Given the description of an element on the screen output the (x, y) to click on. 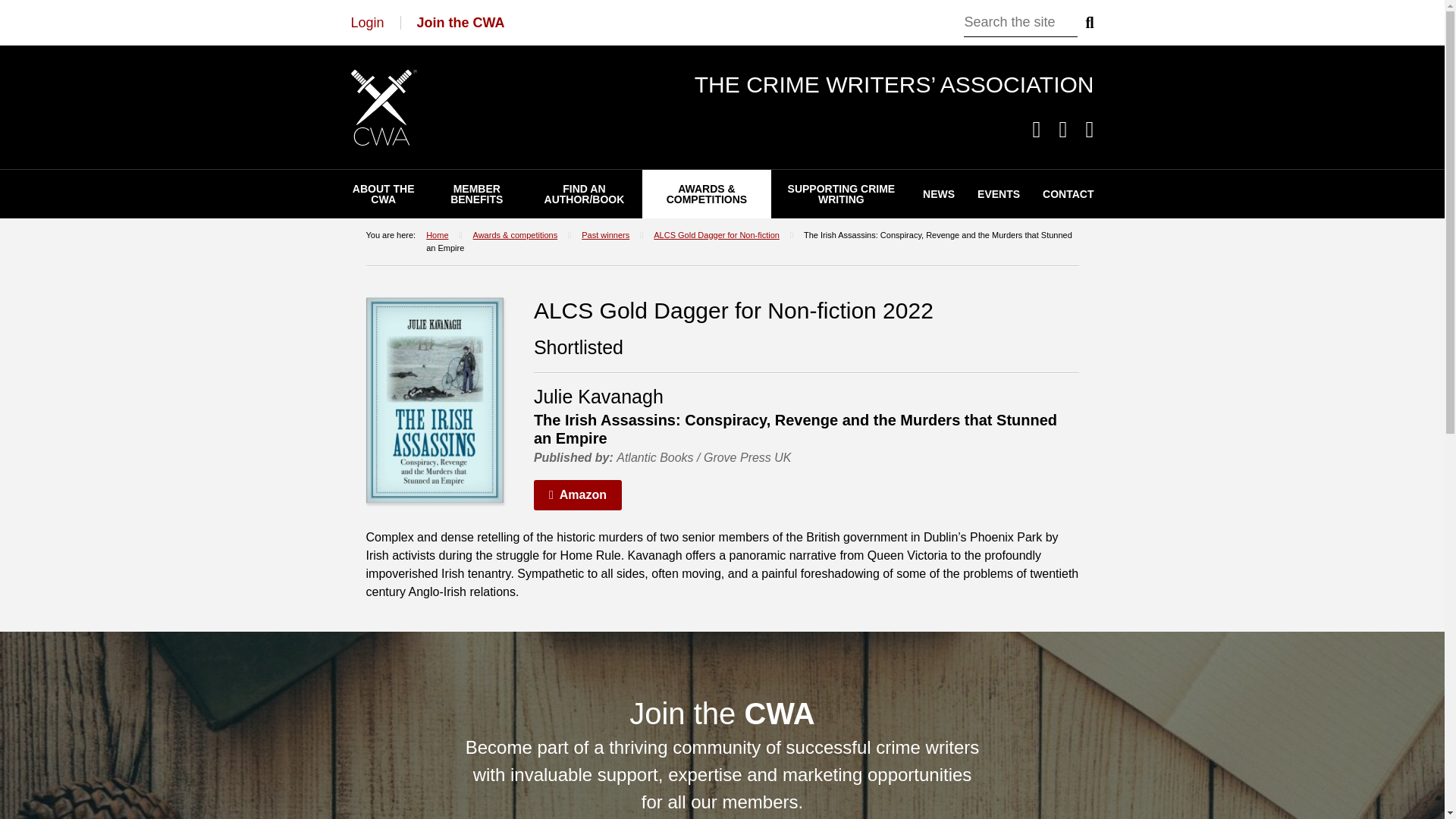
MEMBER BENEFITS (476, 193)
Login (367, 22)
Join the CWA (460, 22)
ABOUT THE CWA (383, 193)
